Given the description of an element on the screen output the (x, y) to click on. 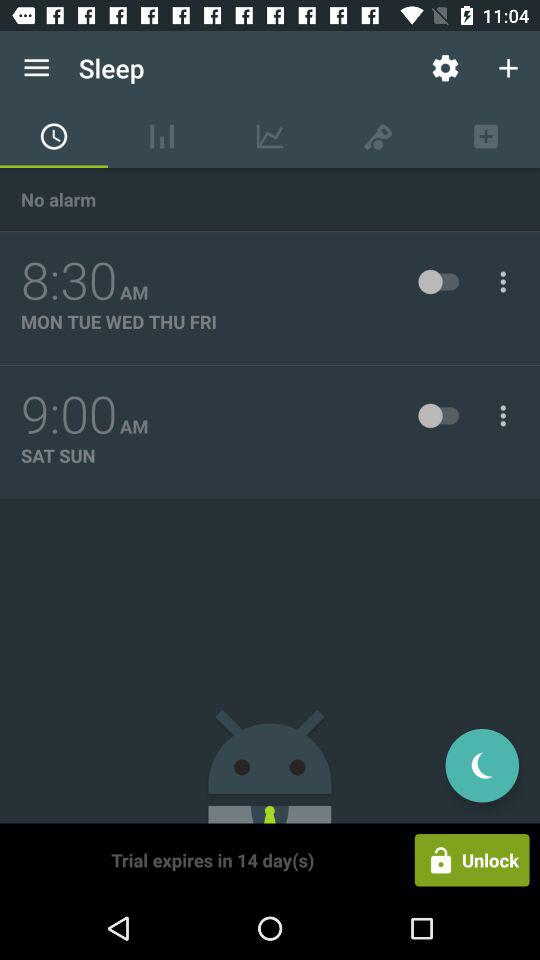
snooze (482, 765)
